Given the description of an element on the screen output the (x, y) to click on. 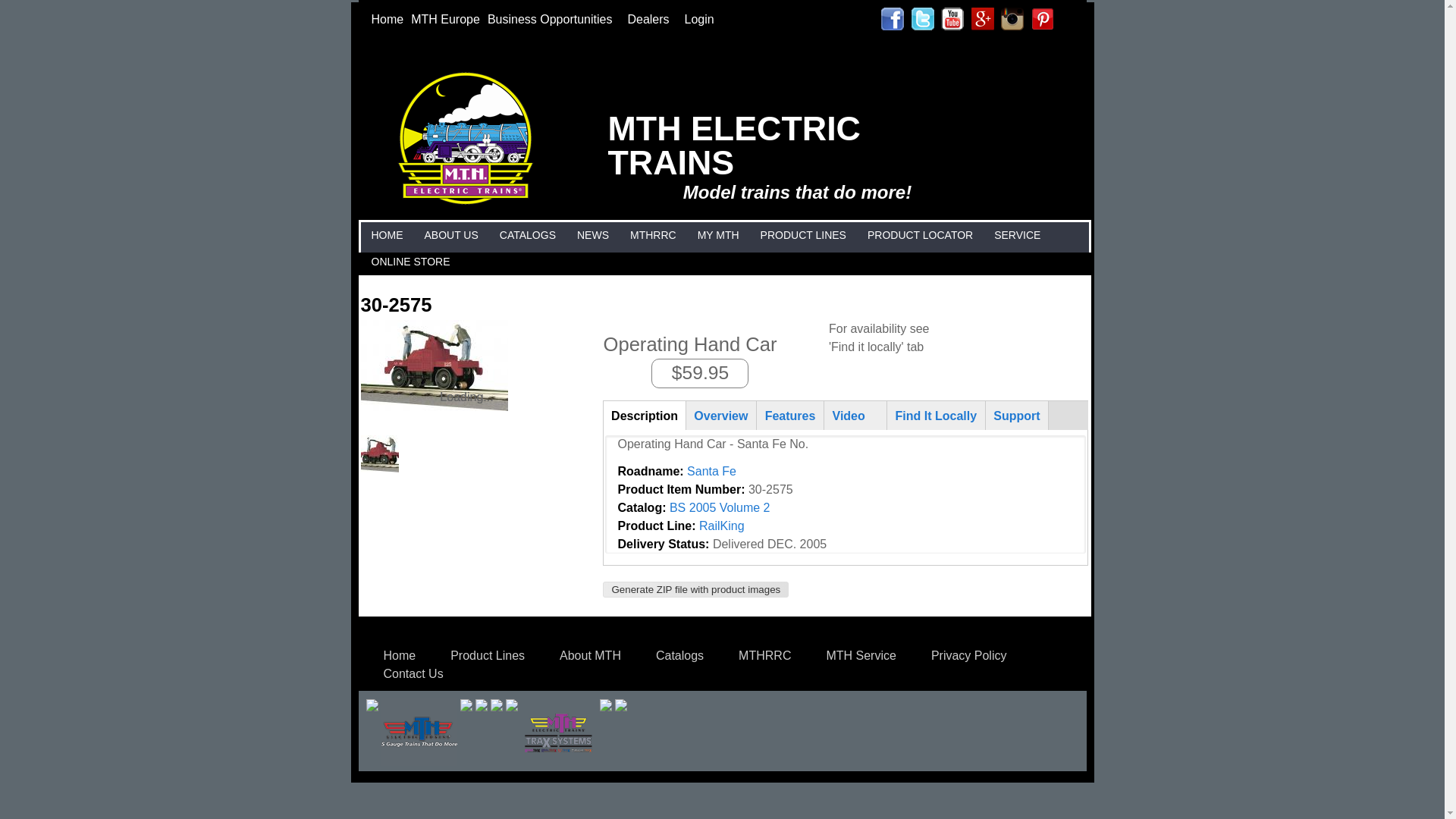
CATALOGS (527, 234)
SERVICE (1016, 234)
Business Opportunities (553, 19)
Generate ZIP file with product images (695, 589)
HOME (386, 234)
Overview (721, 415)
ONLINE STORE (409, 261)
MY MTH (718, 234)
Home (386, 19)
MTHRRC (652, 234)
MTH Europe (445, 19)
Features (789, 415)
PRODUCT LINES (803, 234)
PRODUCT LOCATOR (919, 234)
